Given the description of an element on the screen output the (x, y) to click on. 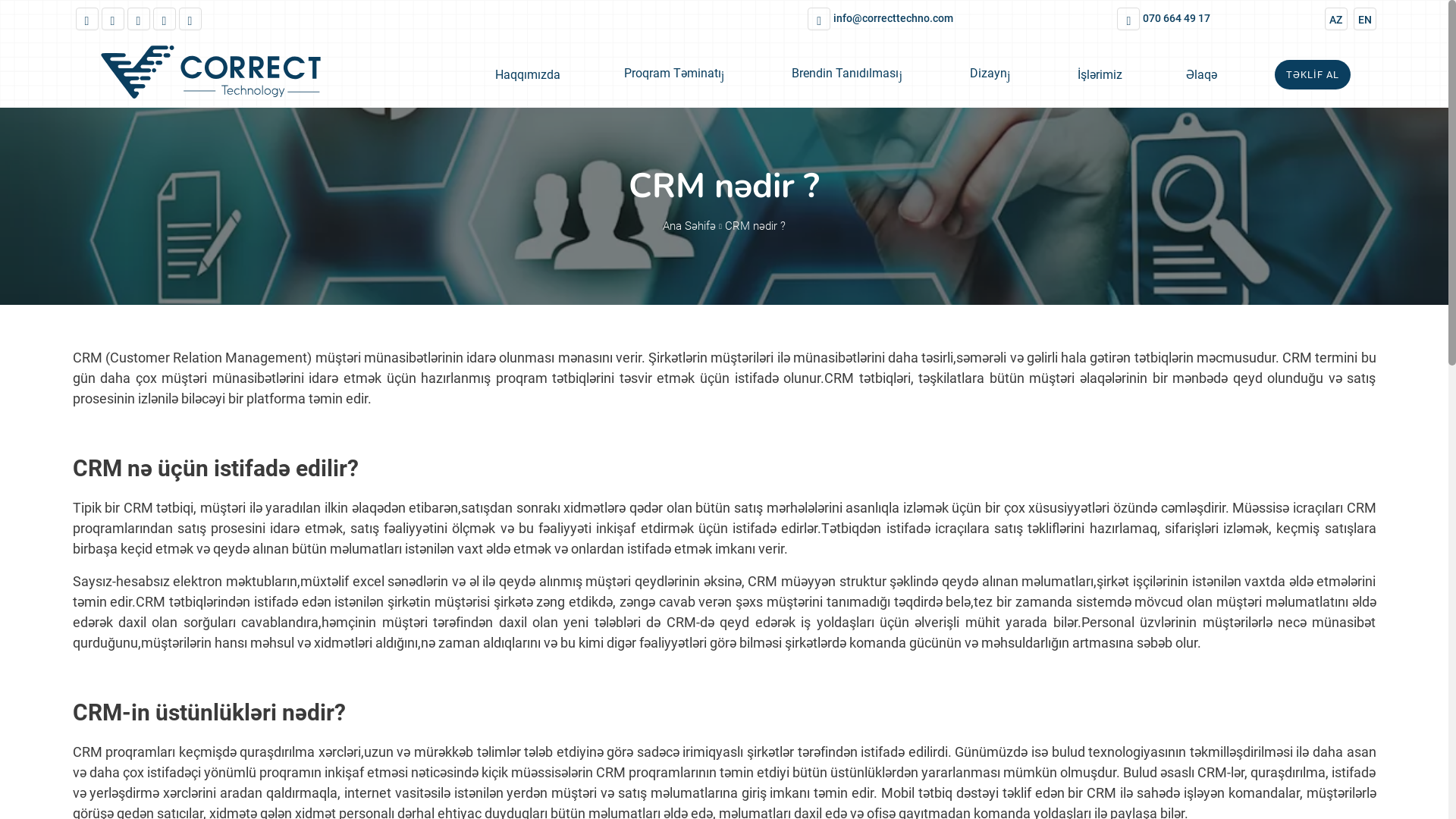
AZ Element type: text (1335, 18)
EN Element type: text (1363, 18)
info@correcttechno.com Element type: text (878, 18)
Dizayn Element type: text (991, 74)
Twitter Element type: hover (164, 18)
Correct Technology Element type: hover (235, 74)
YouTube Element type: hover (189, 18)
070 664 49 17 Element type: text (1161, 18)
Linked Element type: hover (112, 18)
Facebook Element type: hover (86, 18)
Instagram Element type: hover (138, 18)
